Given the description of an element on the screen output the (x, y) to click on. 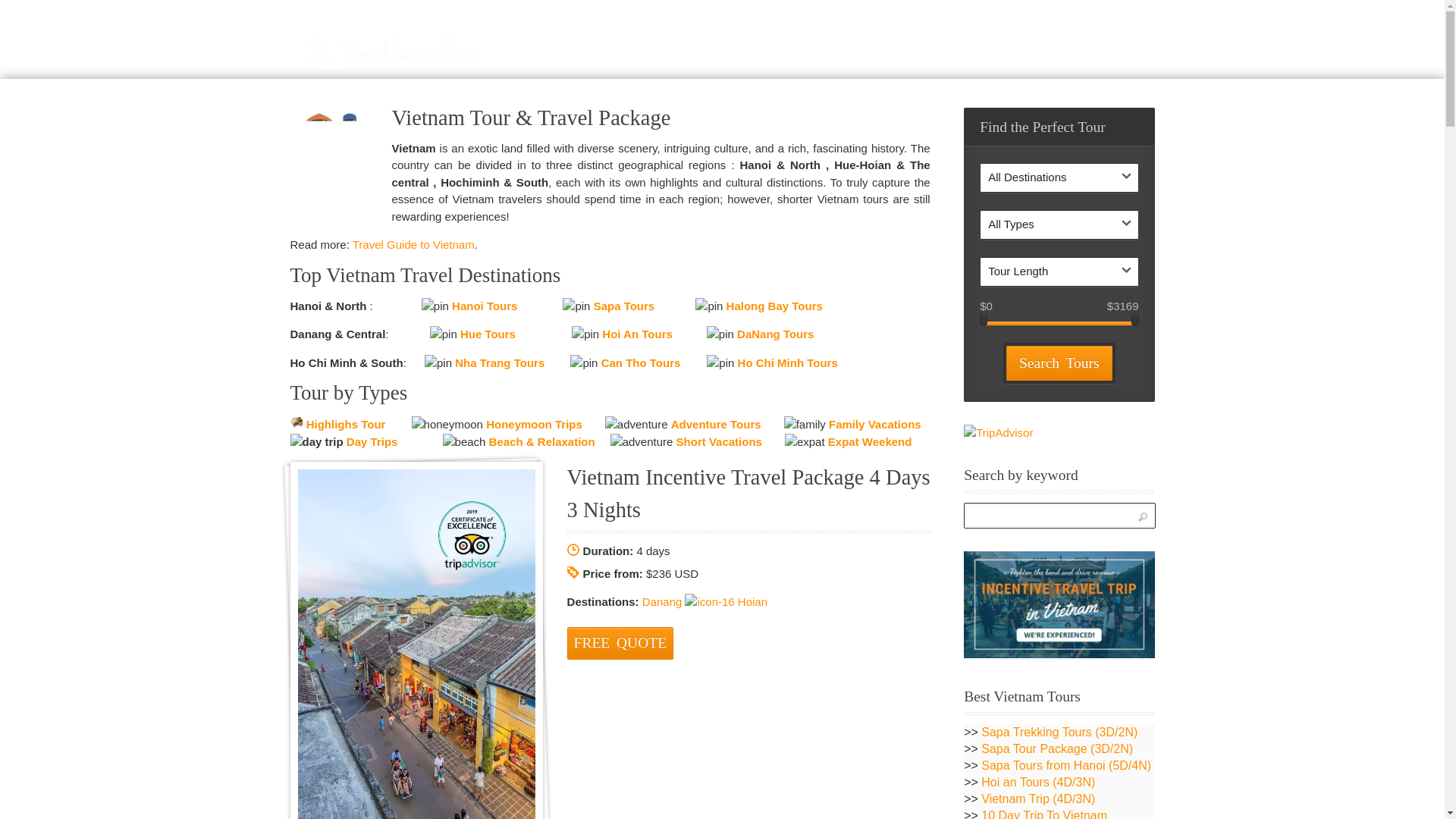
Travel Styles (727, 63)
vietnam trip (628, 58)
About us (874, 58)
Home (967, 58)
10 day trip to vietnam (1037, 798)
Cruises (1052, 63)
YouTube (567, 63)
LinkedIn (1034, 814)
sapa tour package (801, 63)
